Given the description of an element on the screen output the (x, y) to click on. 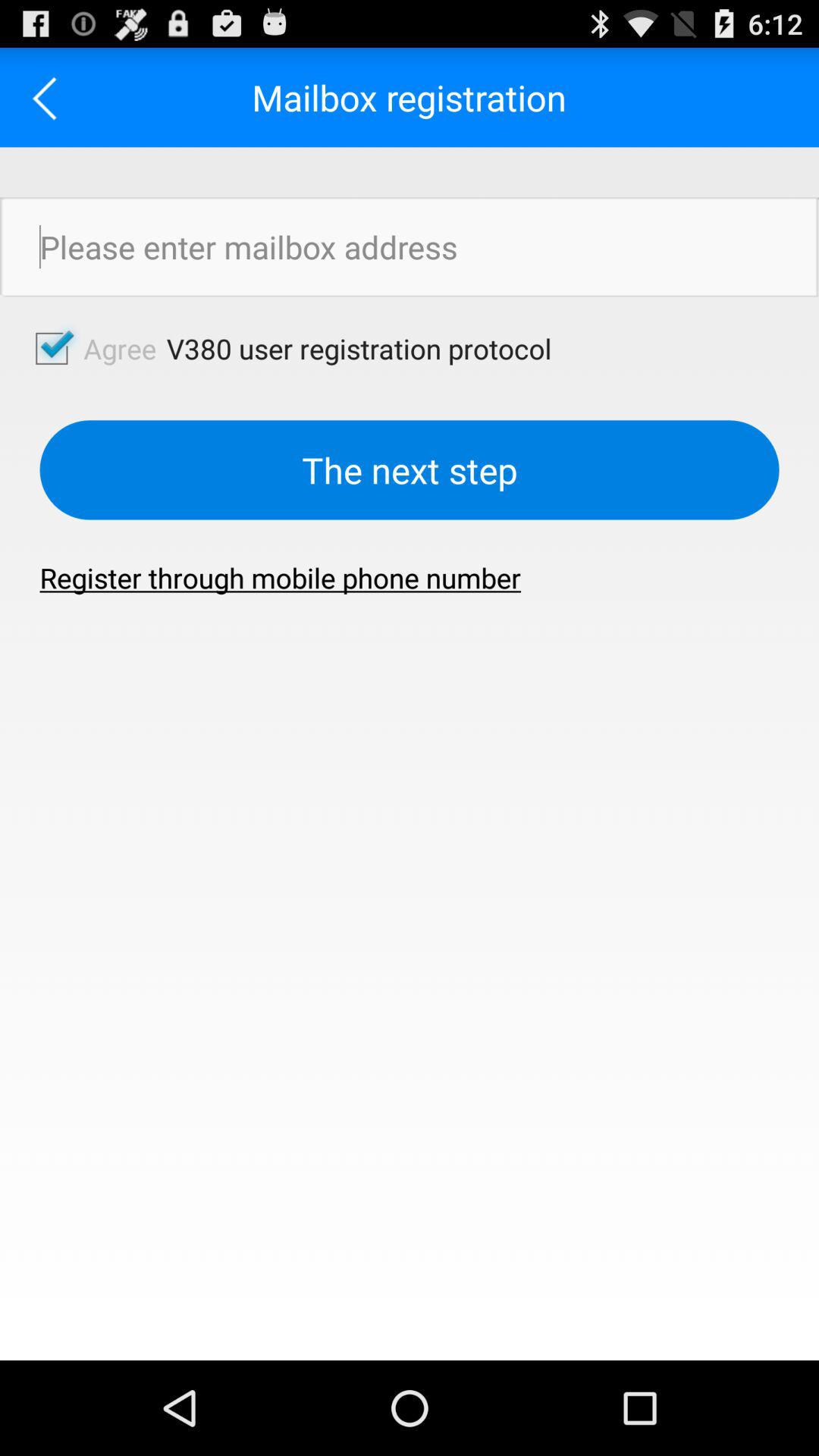
open the item at the center (279, 577)
